Given the description of an element on the screen output the (x, y) to click on. 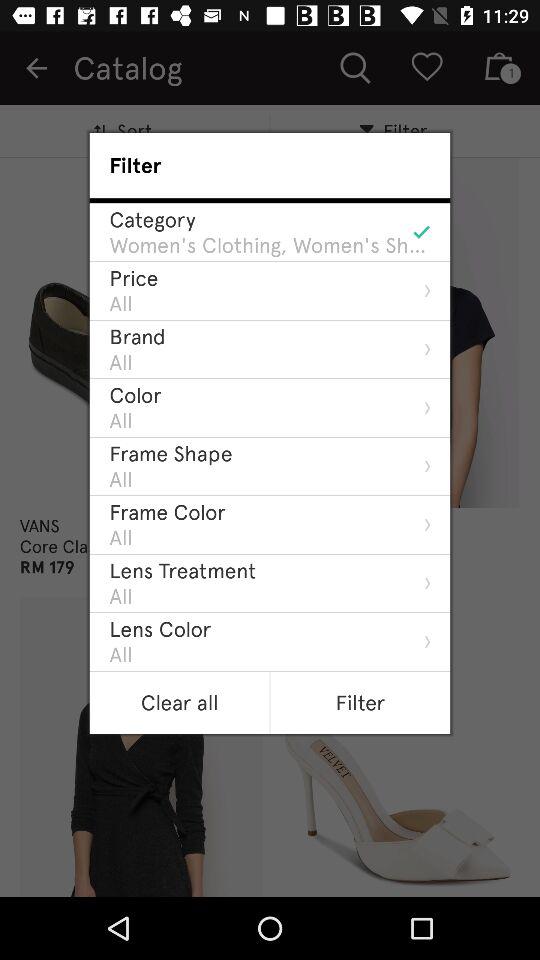
select the icon below the all (137, 336)
